Given the description of an element on the screen output the (x, y) to click on. 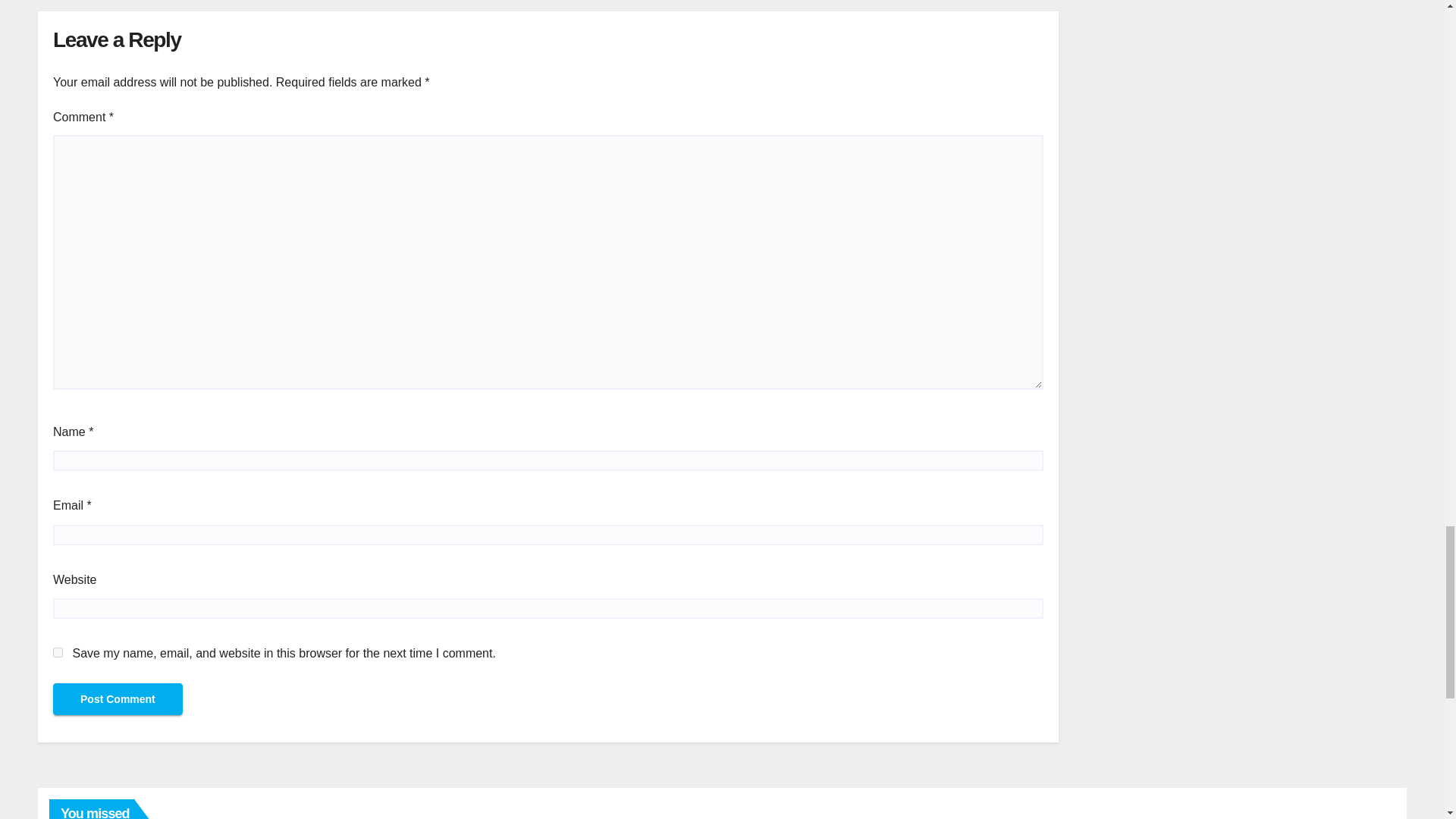
yes (57, 652)
Post Comment (117, 698)
